Given the description of an element on the screen output the (x, y) to click on. 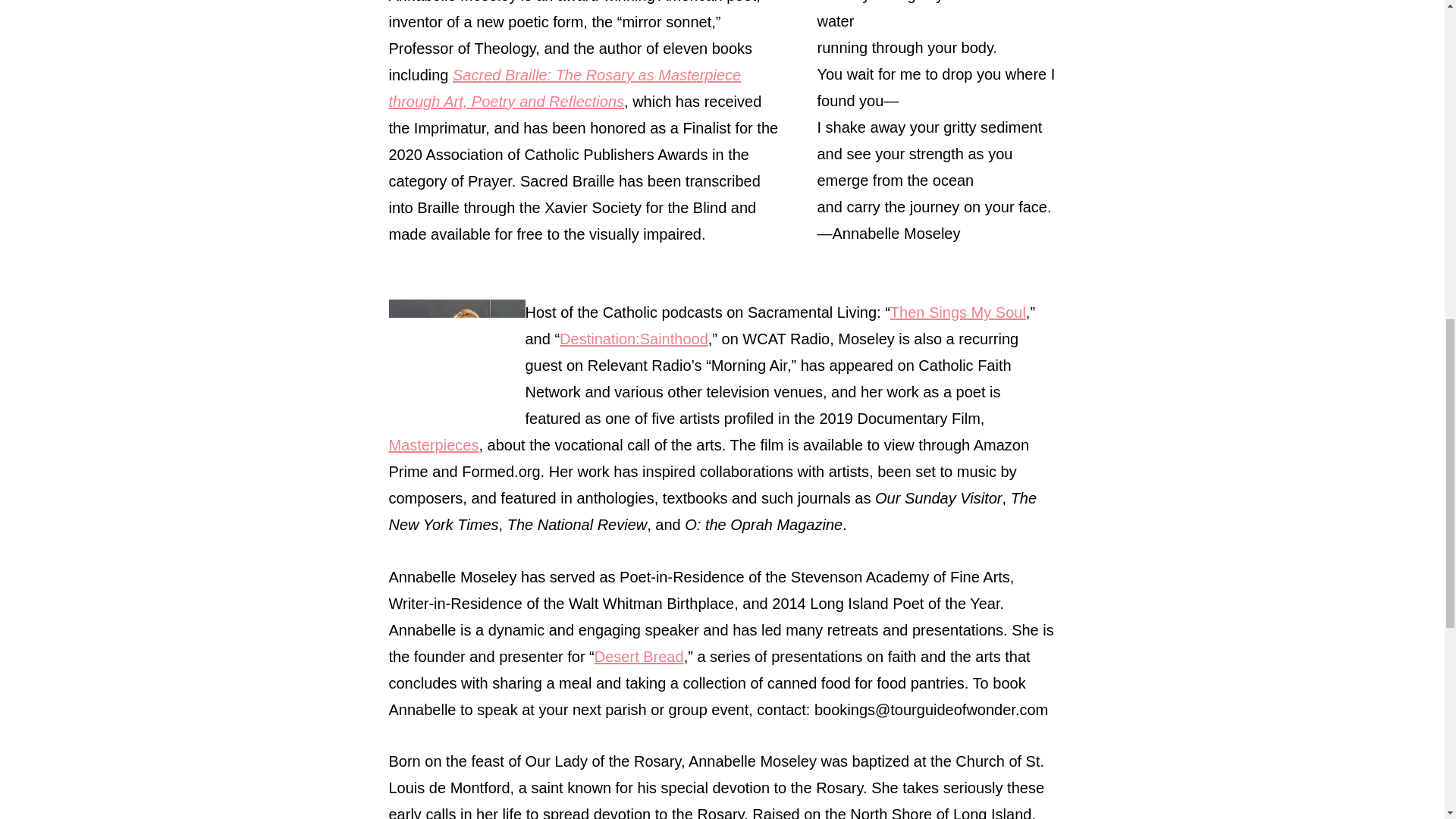
Desert Bread (639, 656)
Destination:Sainthood (633, 338)
Masterpieces (433, 444)
Then Sings My Soul (957, 312)
